Given the description of an element on the screen output the (x, y) to click on. 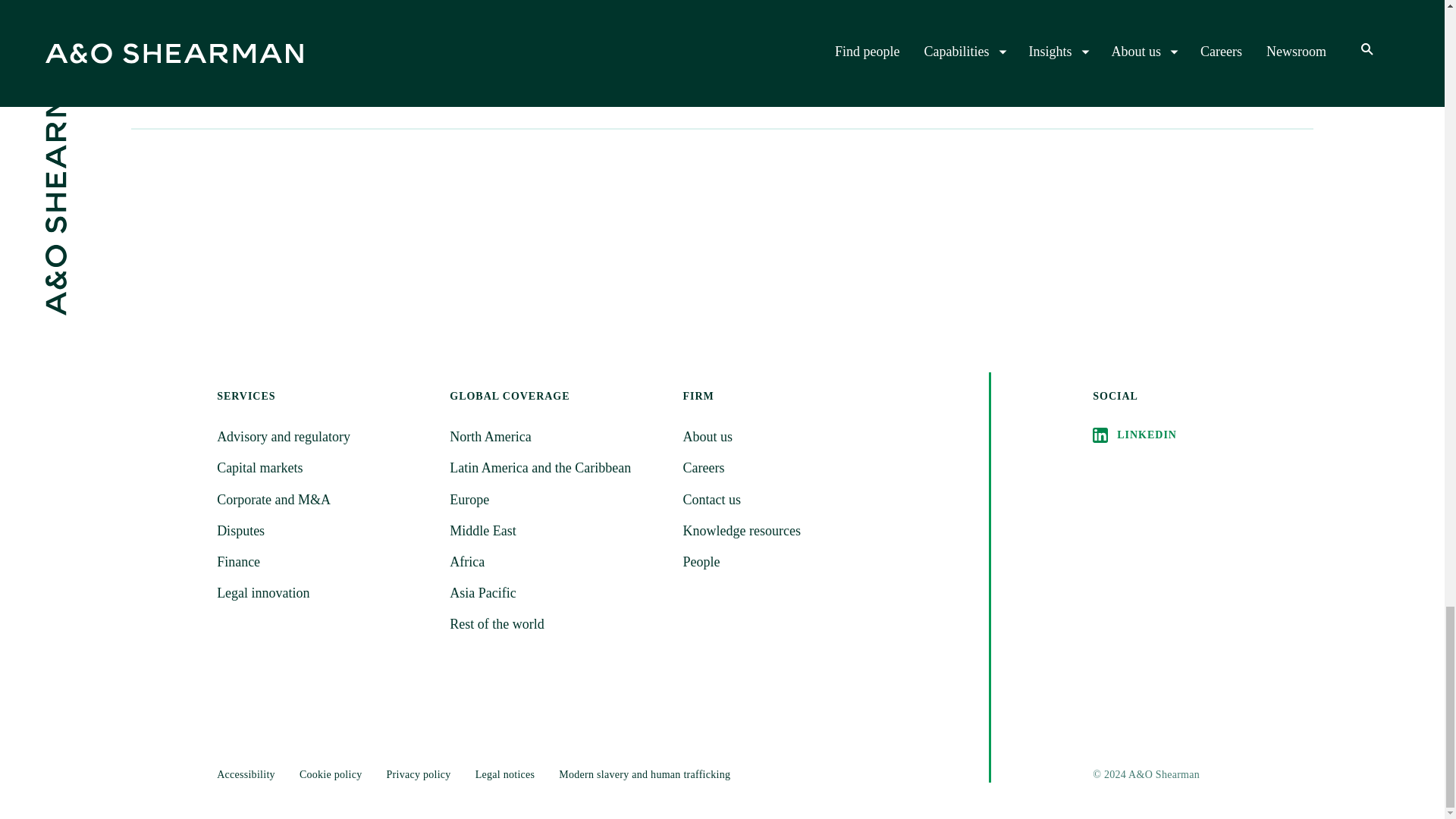
Latin America and the Caribbean (556, 467)
Legal innovation (422, 18)
Finance (323, 592)
Advisory and regulatory (323, 561)
Capital markets (323, 436)
Disputes (323, 467)
North America (323, 530)
Europe (556, 436)
Middle East (556, 499)
